Given the description of an element on the screen output the (x, y) to click on. 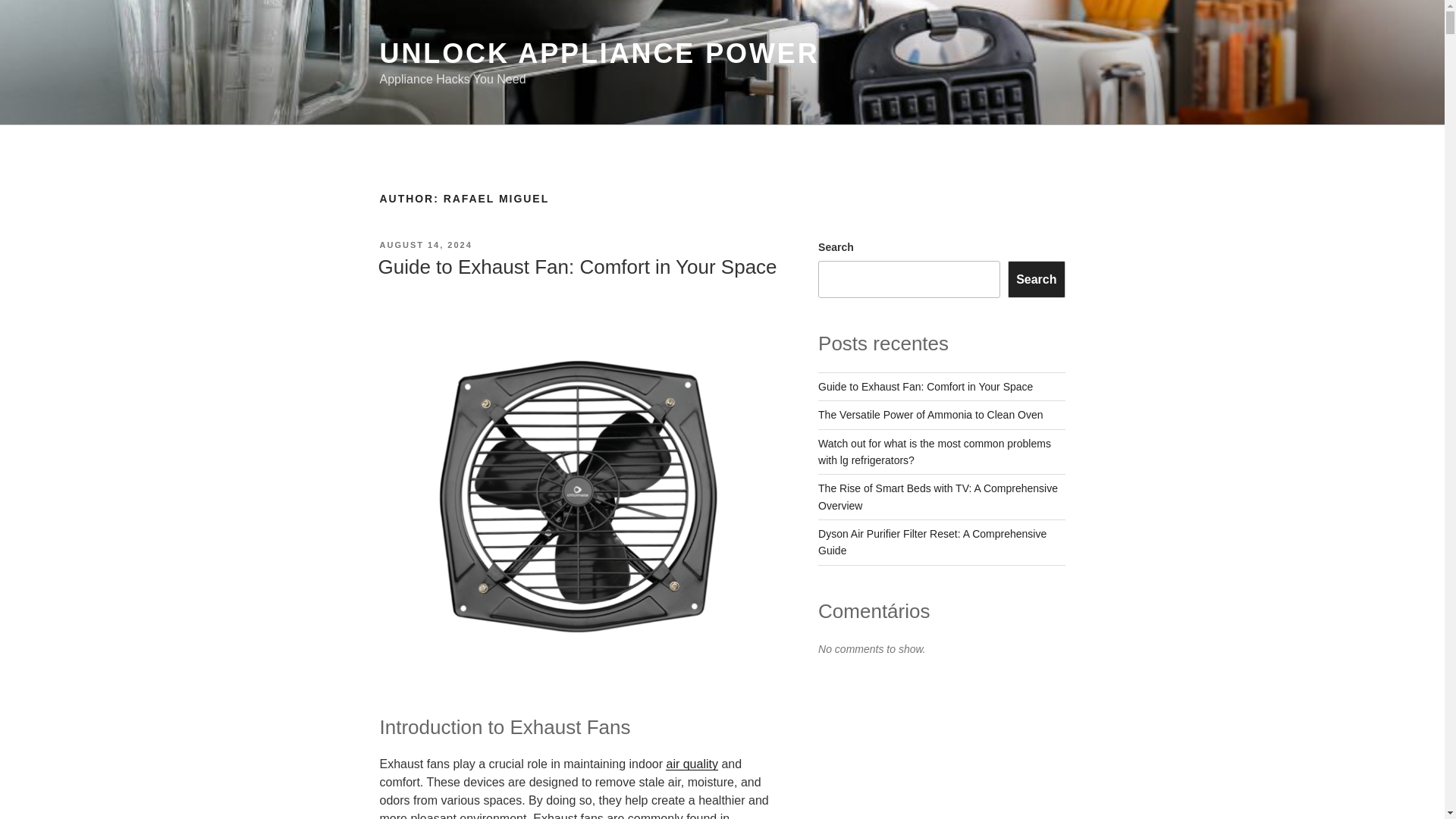
UNLOCK APPLIANCE POWER (598, 52)
Guide to Exhaust Fan: Comfort in Your Space (576, 266)
AUGUST 14, 2024 (424, 244)
air quality (691, 763)
